Given the description of an element on the screen output the (x, y) to click on. 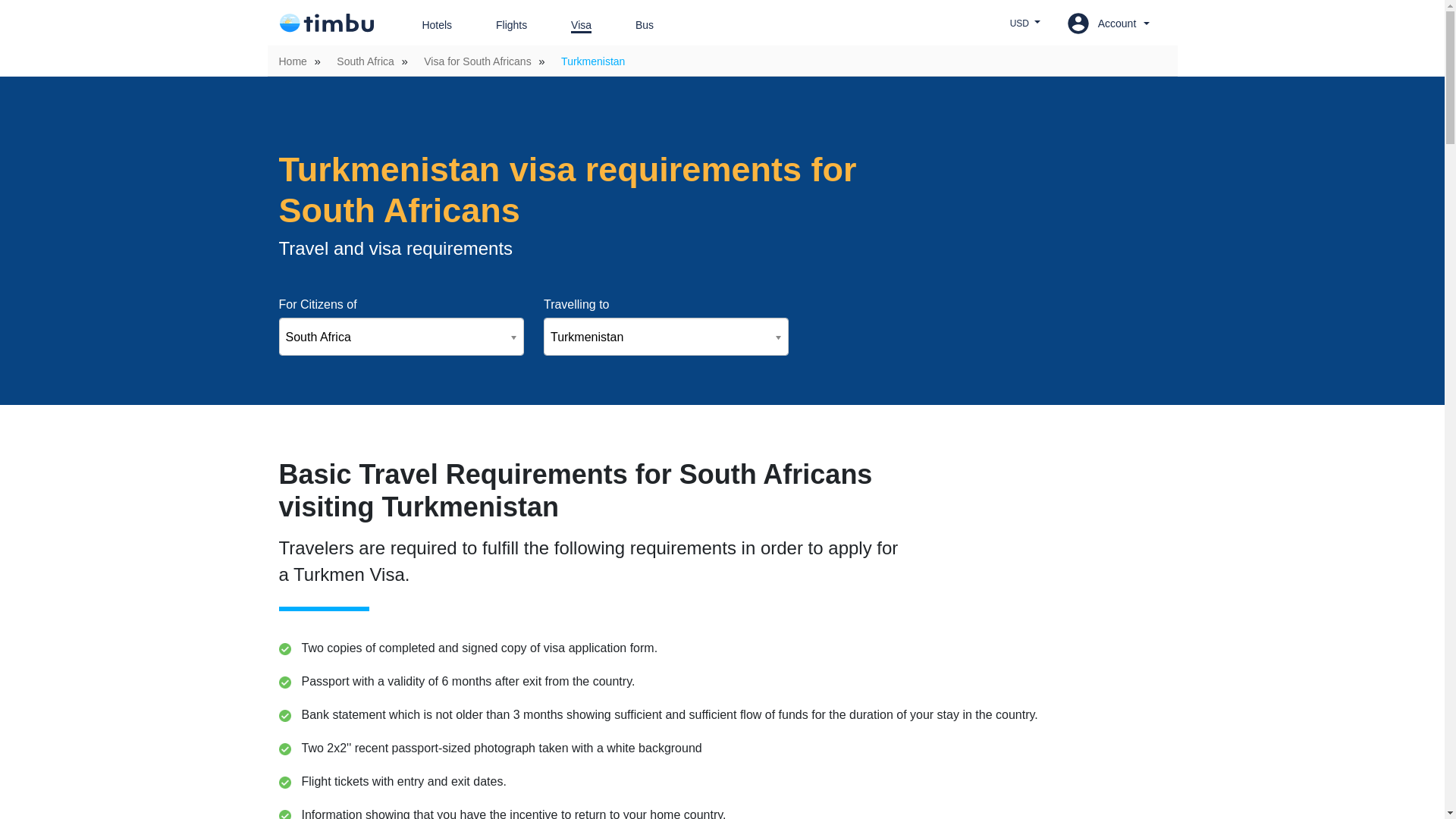
Flights (500, 24)
USD (1025, 22)
Timbu logo (326, 22)
Hotels (424, 24)
Timbu logo (326, 22)
Visa (569, 24)
Bus (632, 24)
